Given the description of an element on the screen output the (x, y) to click on. 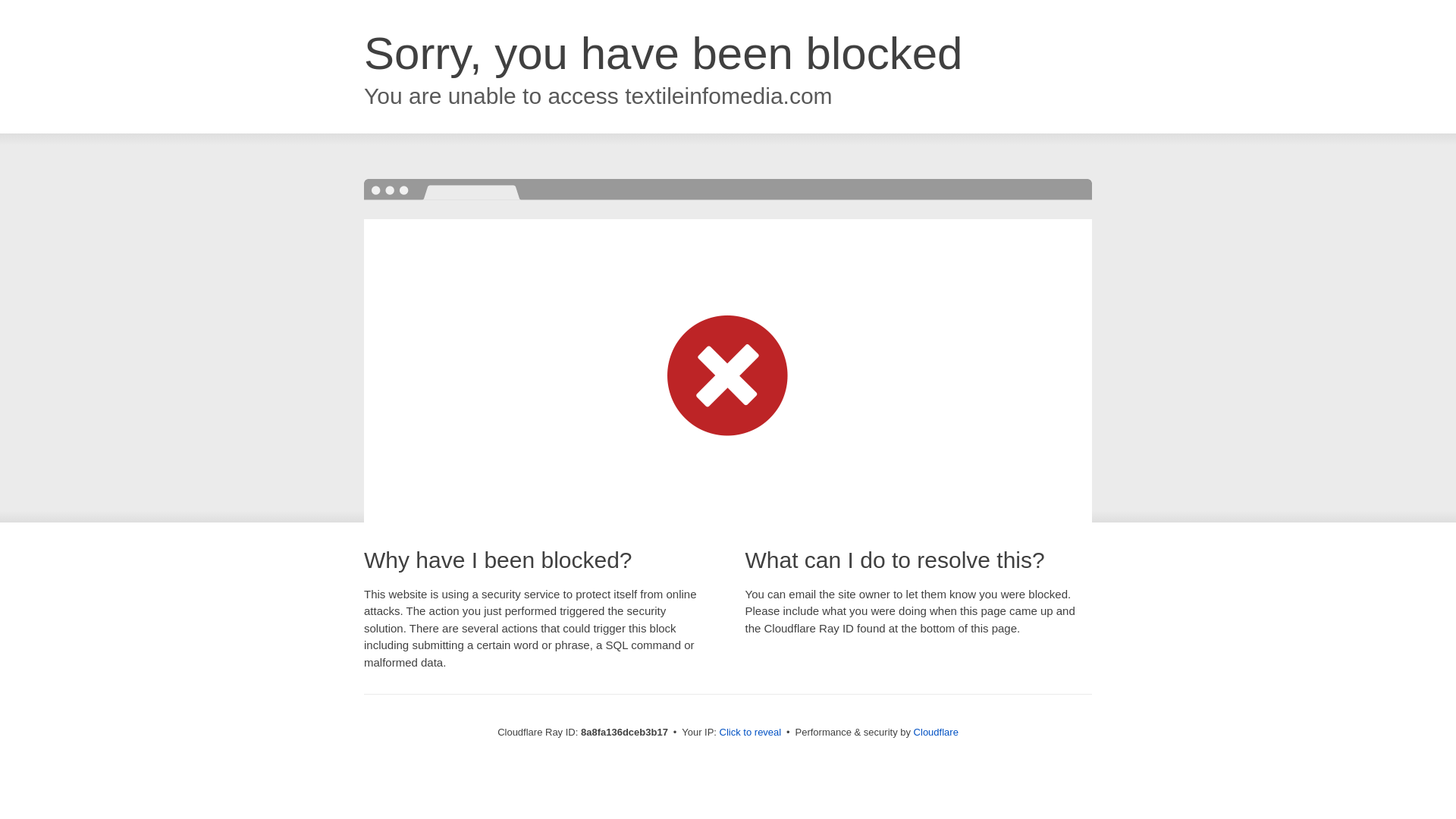
Click to reveal (750, 732)
Cloudflare (936, 731)
